Given the description of an element on the screen output the (x, y) to click on. 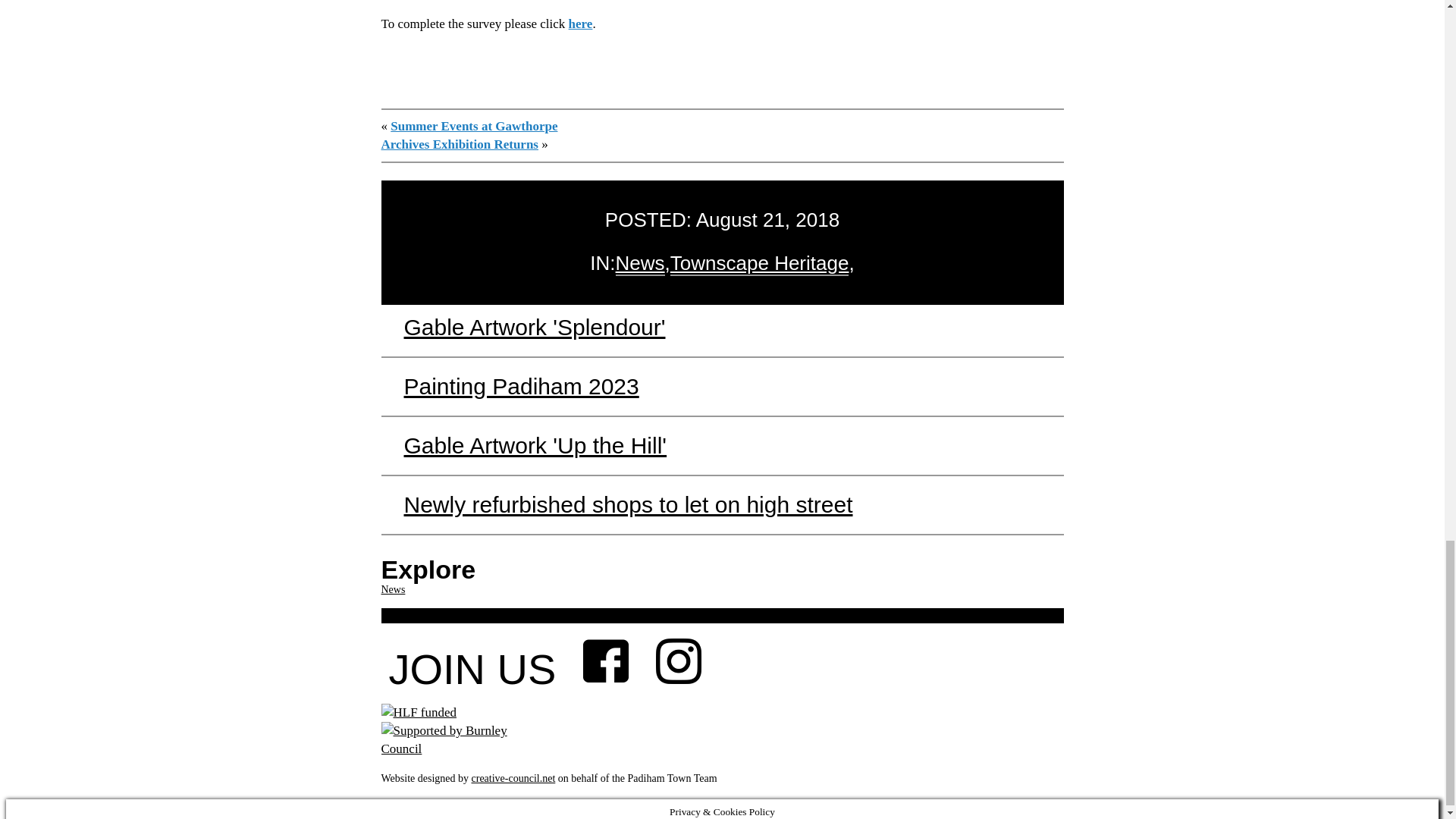
Summer Events at Gawthorpe (473, 124)
Painting Padiham 2023 (521, 384)
Archives Exhibition Returns (459, 142)
Gable Artwork 'Up the Hill' (534, 443)
News (392, 587)
News (640, 261)
Townscape Heritage (758, 261)
Newly refurbished shops to let on high street (627, 502)
Gable Artwork 'Splendour' (534, 325)
here (580, 22)
